Given the description of an element on the screen output the (x, y) to click on. 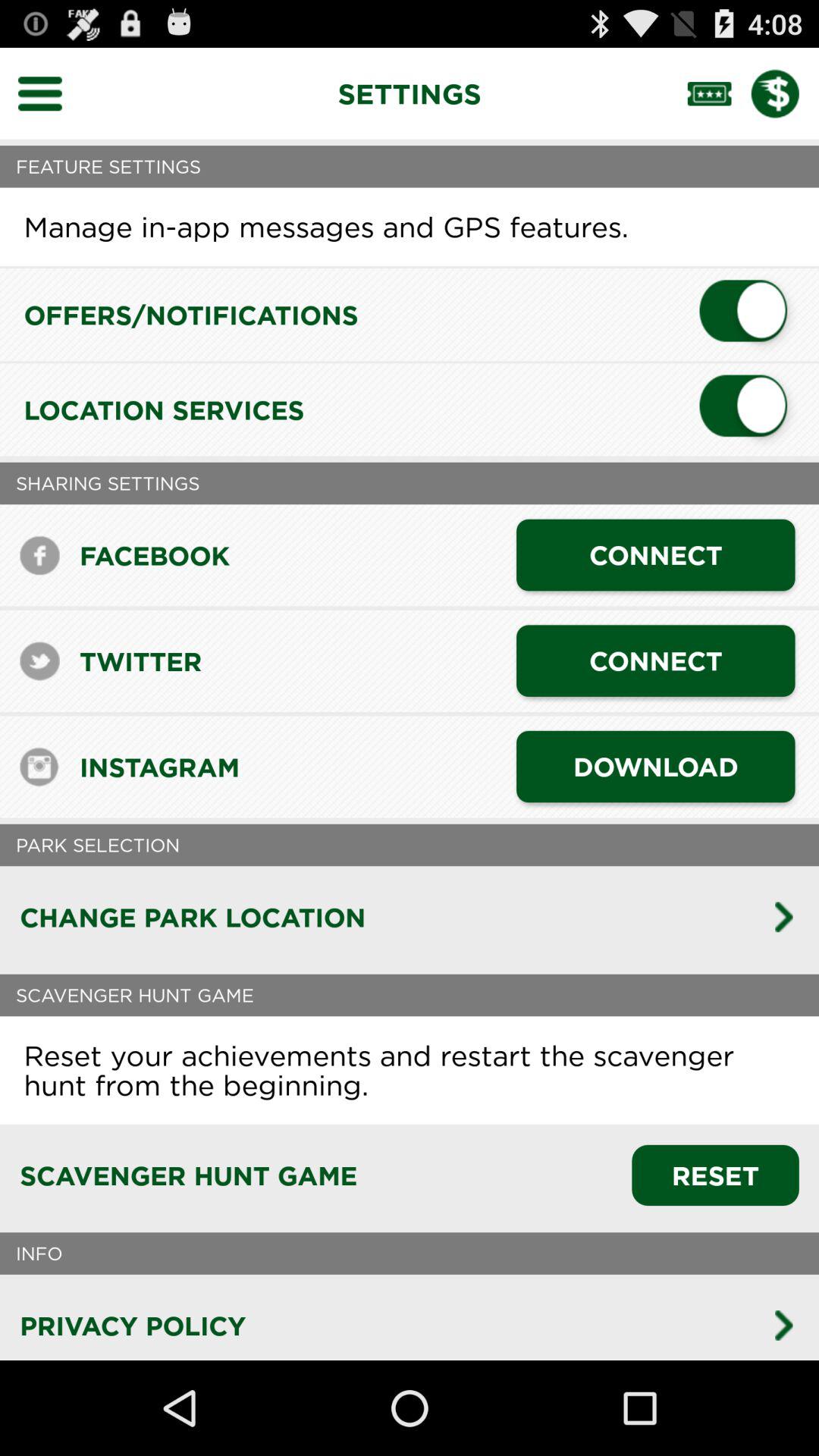
turn on the item next to the instagram icon (655, 766)
